Given the description of an element on the screen output the (x, y) to click on. 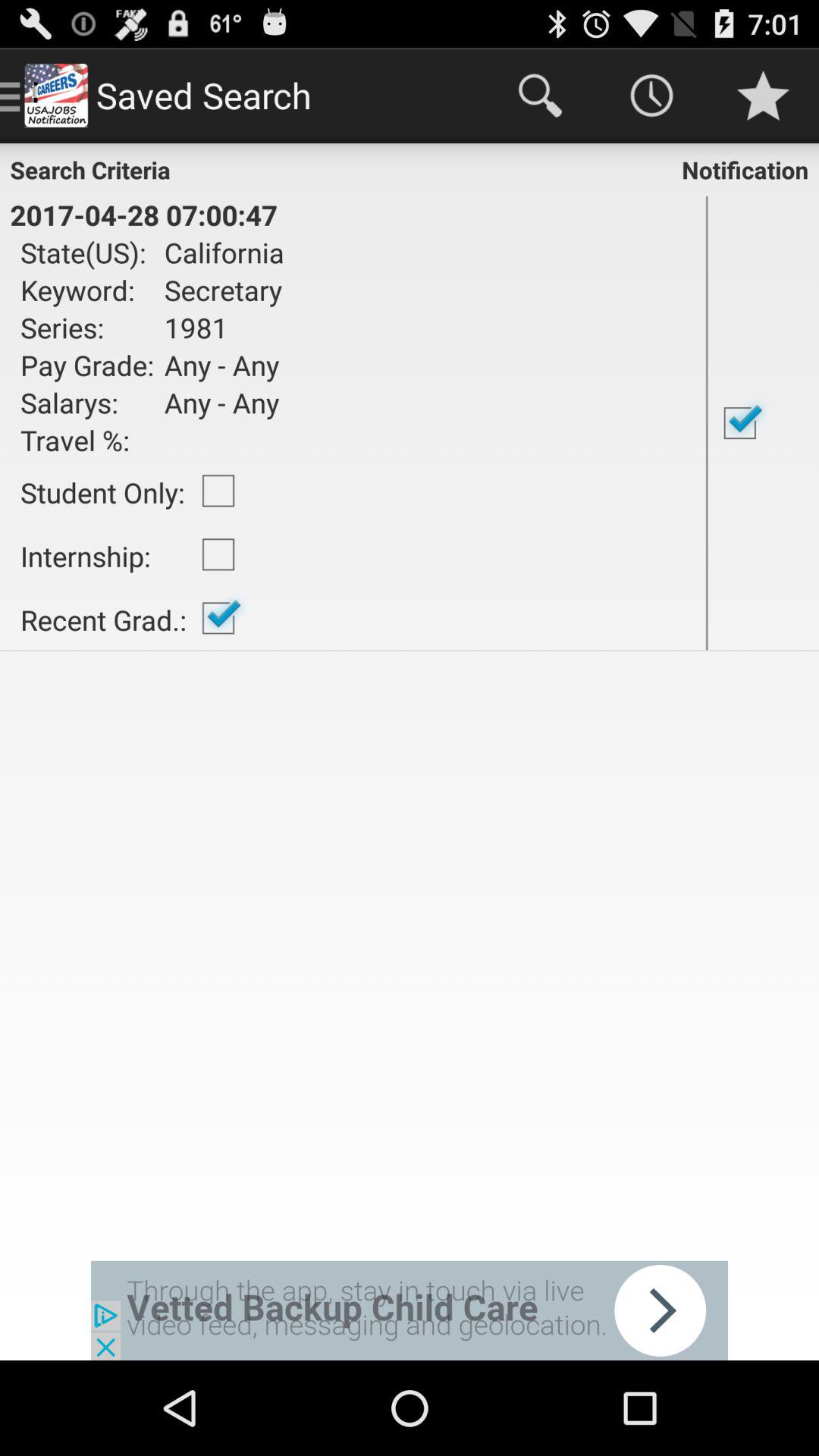
launch icon next to the state(us): app (219, 289)
